Given the description of an element on the screen output the (x, y) to click on. 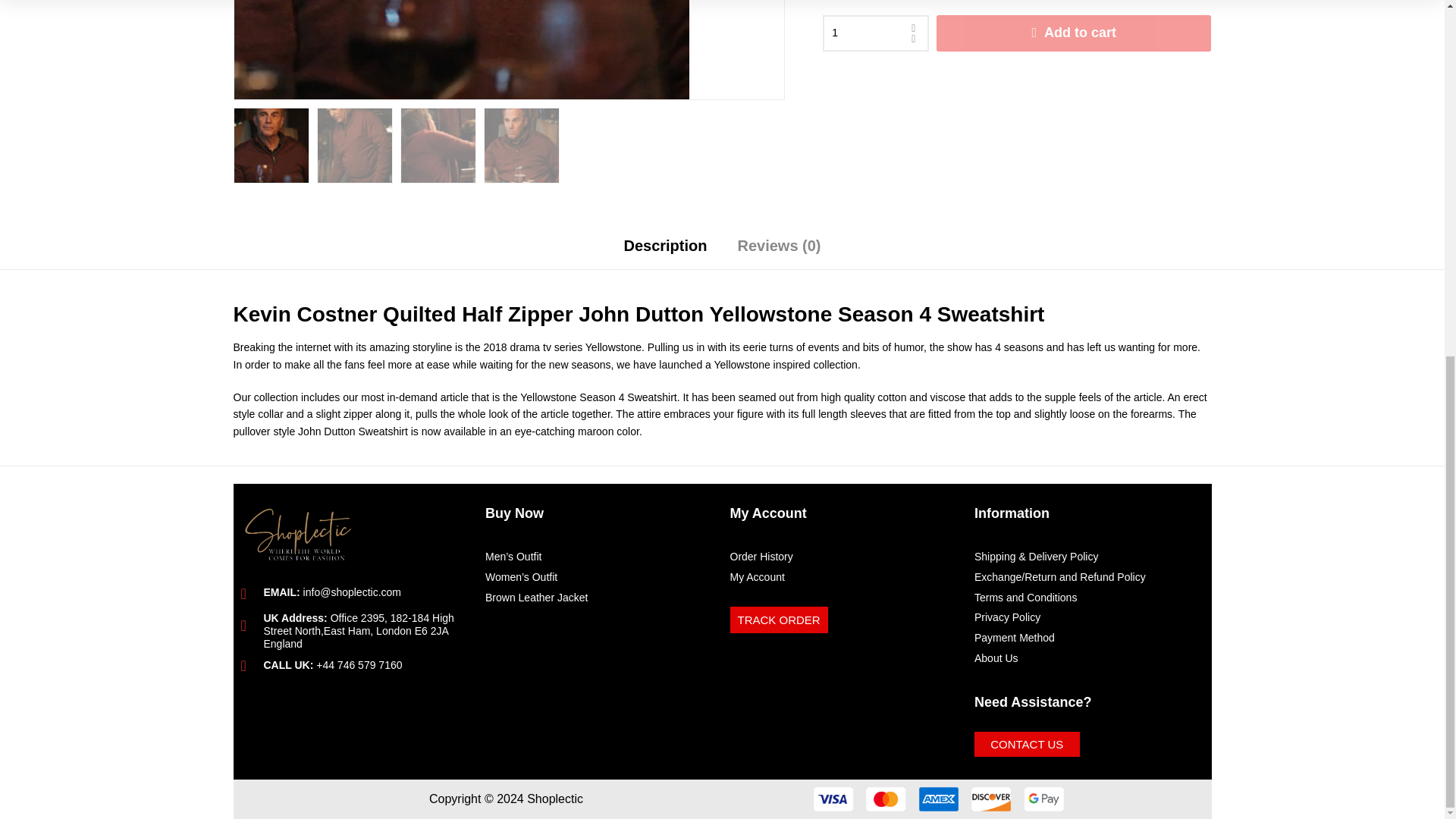
Add to cart (1073, 33)
1 (875, 33)
Description (665, 251)
1 (460, 49)
